Given the description of an element on the screen output the (x, y) to click on. 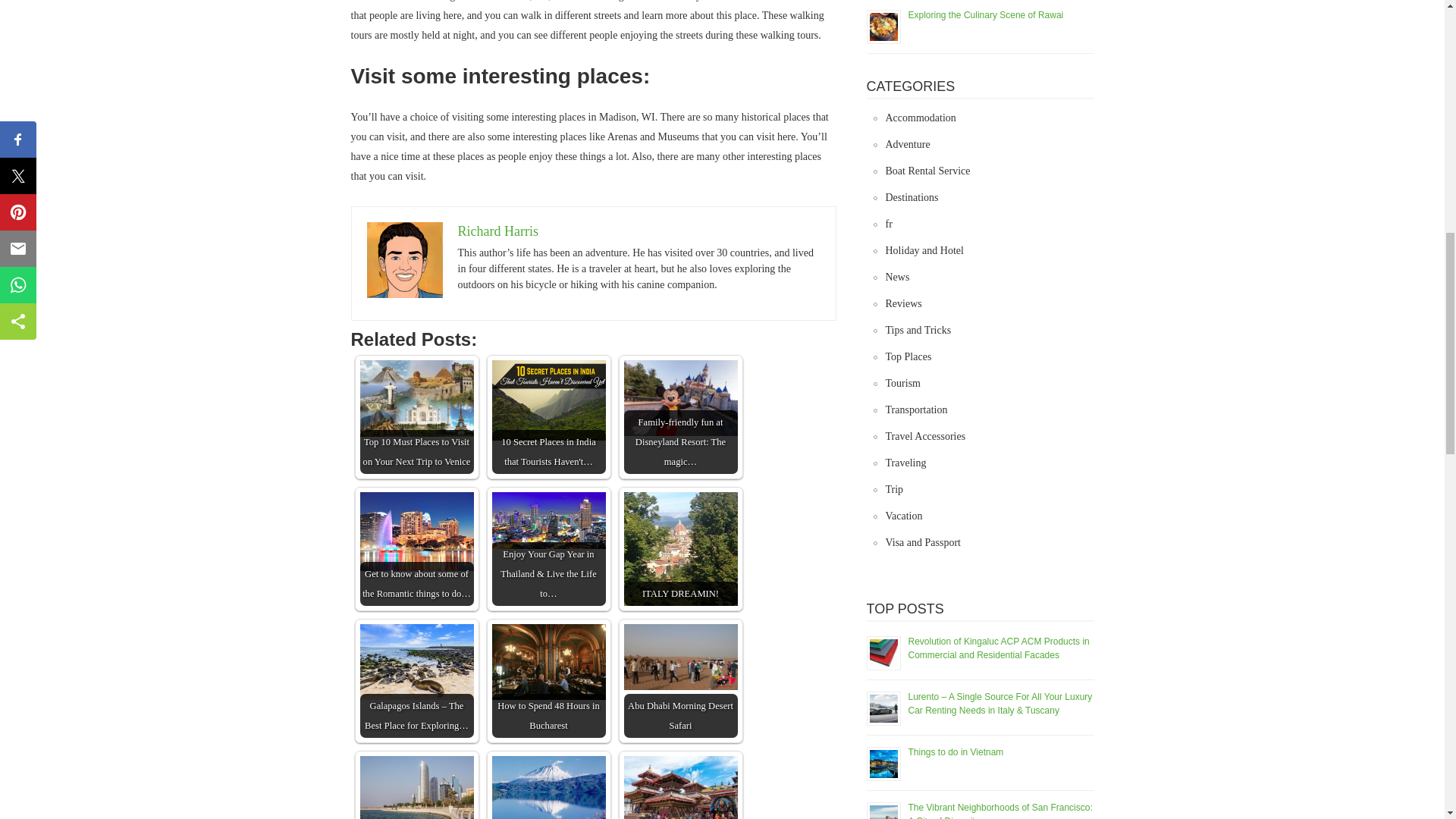
ITALY DREAMIN! (679, 549)
Abu Dhabi Morning Desert Safari (679, 680)
Top 10 Must Places to Visit on Your Next Trip to Venice (416, 398)
ITALY DREAMIN! (679, 549)
Abu Dhabi Morning Desert Safari (679, 657)
How to Spend 48 Hours in Bucharest (548, 662)
Things to do in Nepal (679, 787)
How to Spend 48 Hours in Bucharest (548, 680)
Things to do in Nepal (679, 787)
Visiting Hokkaido Island (548, 787)
Visiting Hokkaido Island (548, 787)
Richard Harris (498, 231)
Richard Harris (404, 259)
